Given the description of an element on the screen output the (x, y) to click on. 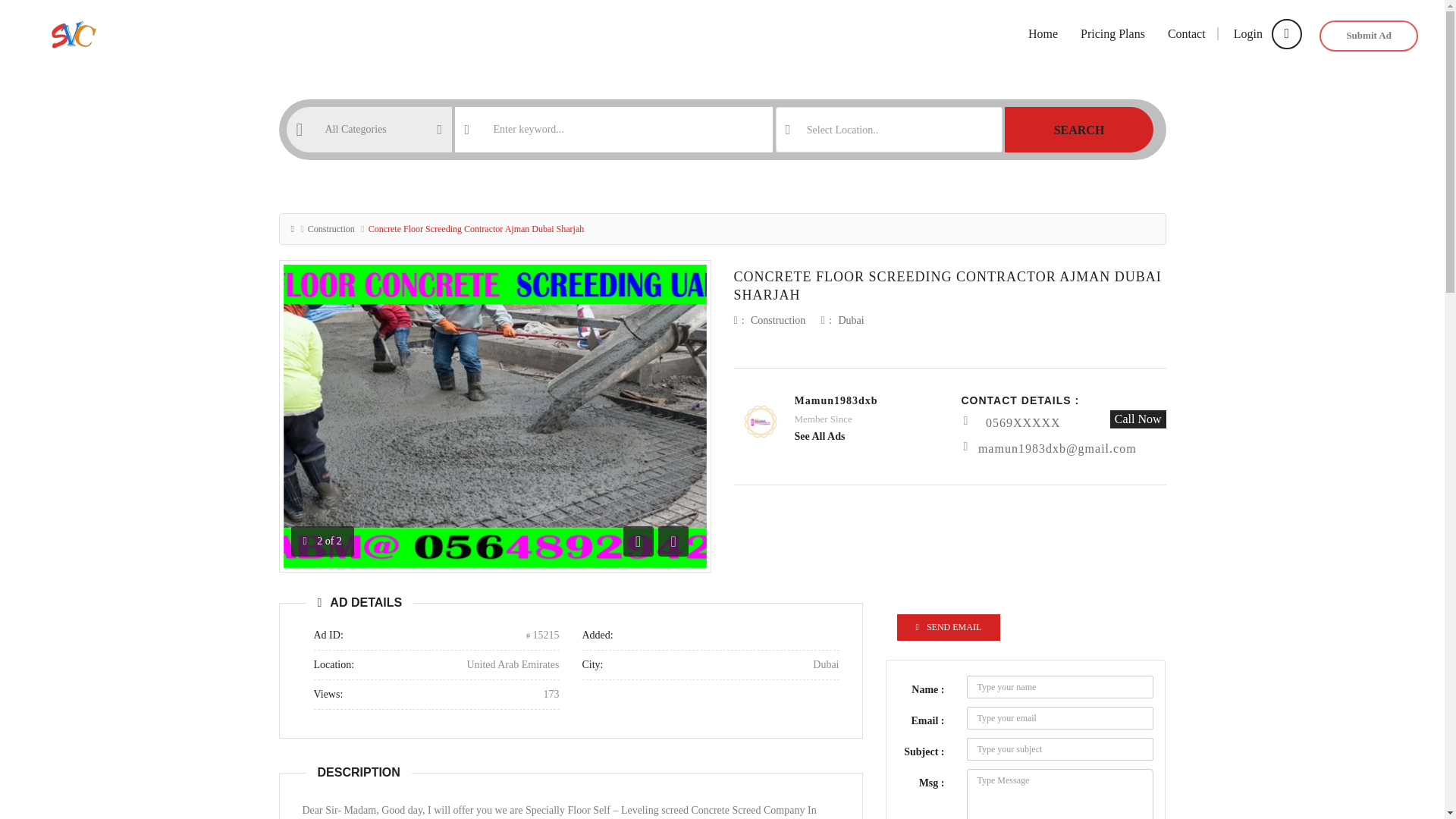
Home (1042, 34)
CONCRETE FLOOR SCREEDING CONTRACTOR AJMAN DUBAI SHARJAH (947, 285)
Pricing Plans (1112, 34)
Call Now (1137, 419)
0569XXXXX (1023, 422)
SEARCH (1078, 129)
Contact (1186, 34)
Home (1042, 34)
View all posts in Construction (778, 319)
Select Location.. (888, 130)
Construction (331, 228)
Pricing Plans (1112, 34)
Mamun1983dxb (835, 400)
Login (1259, 33)
Submit Ad (1368, 35)
